Given the description of an element on the screen output the (x, y) to click on. 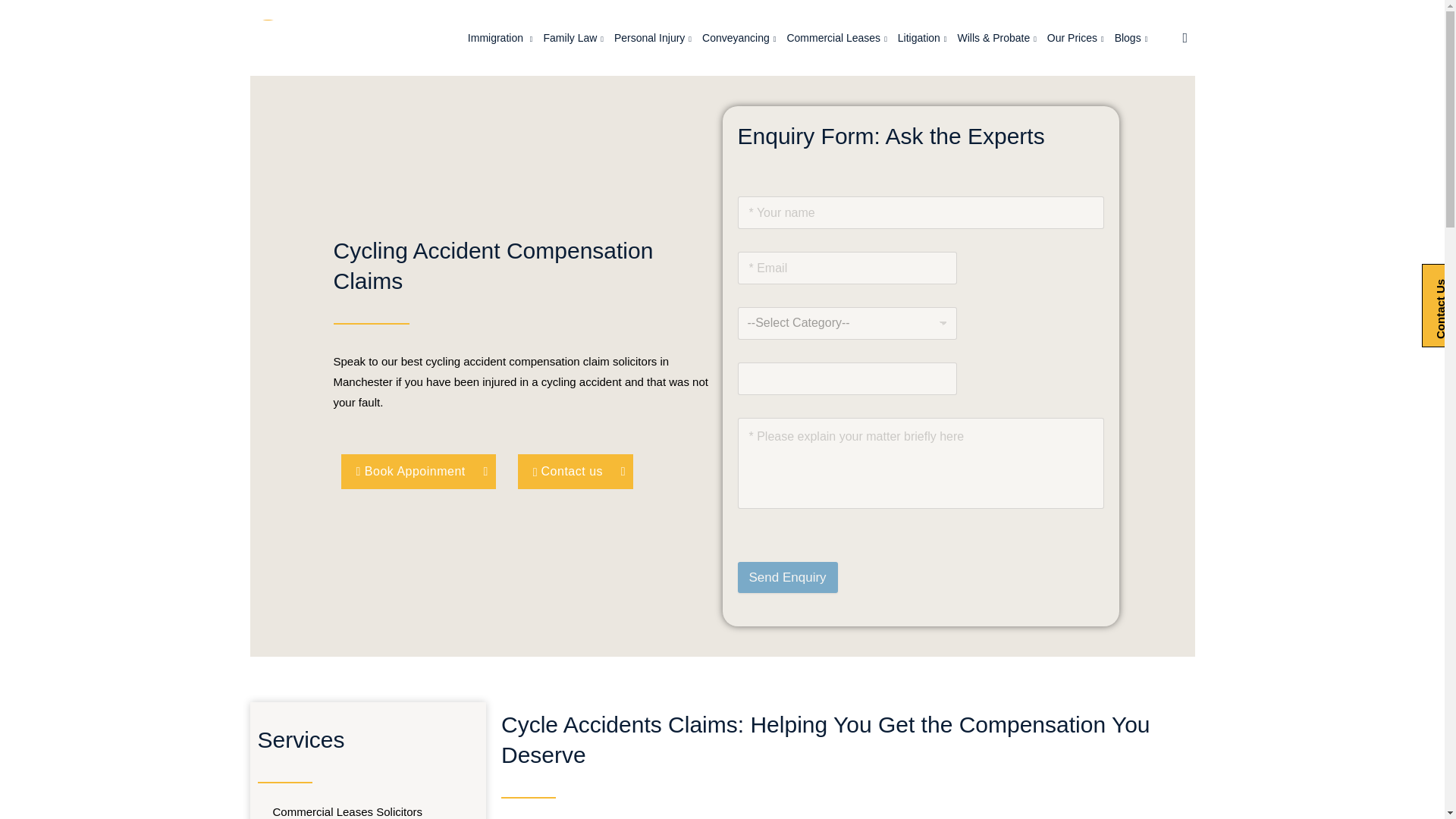
Best Solicitios in Manchester in uk (317, 34)
Conveyancing (738, 38)
Personal Injury (652, 38)
Commercial Leases (836, 38)
